Given the description of an element on the screen output the (x, y) to click on. 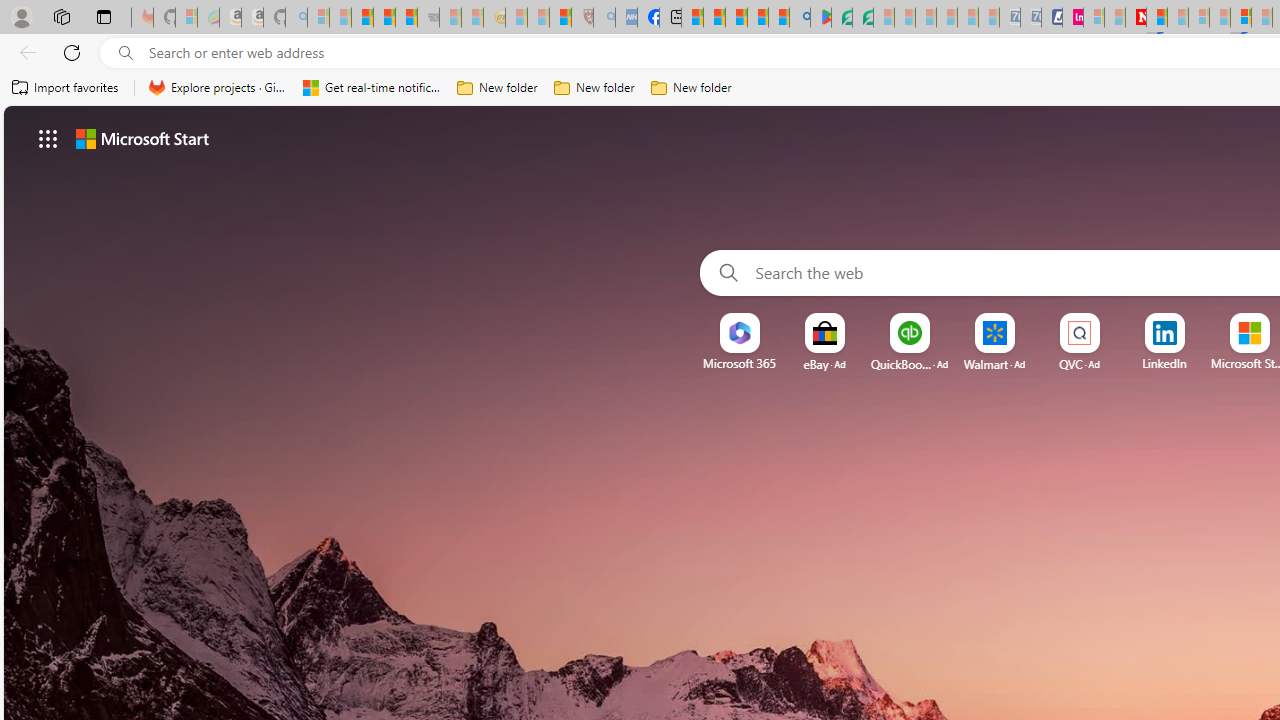
Search icon (125, 53)
Microsoft start (142, 138)
Local - MSN (560, 17)
